Given the description of an element on the screen output the (x, y) to click on. 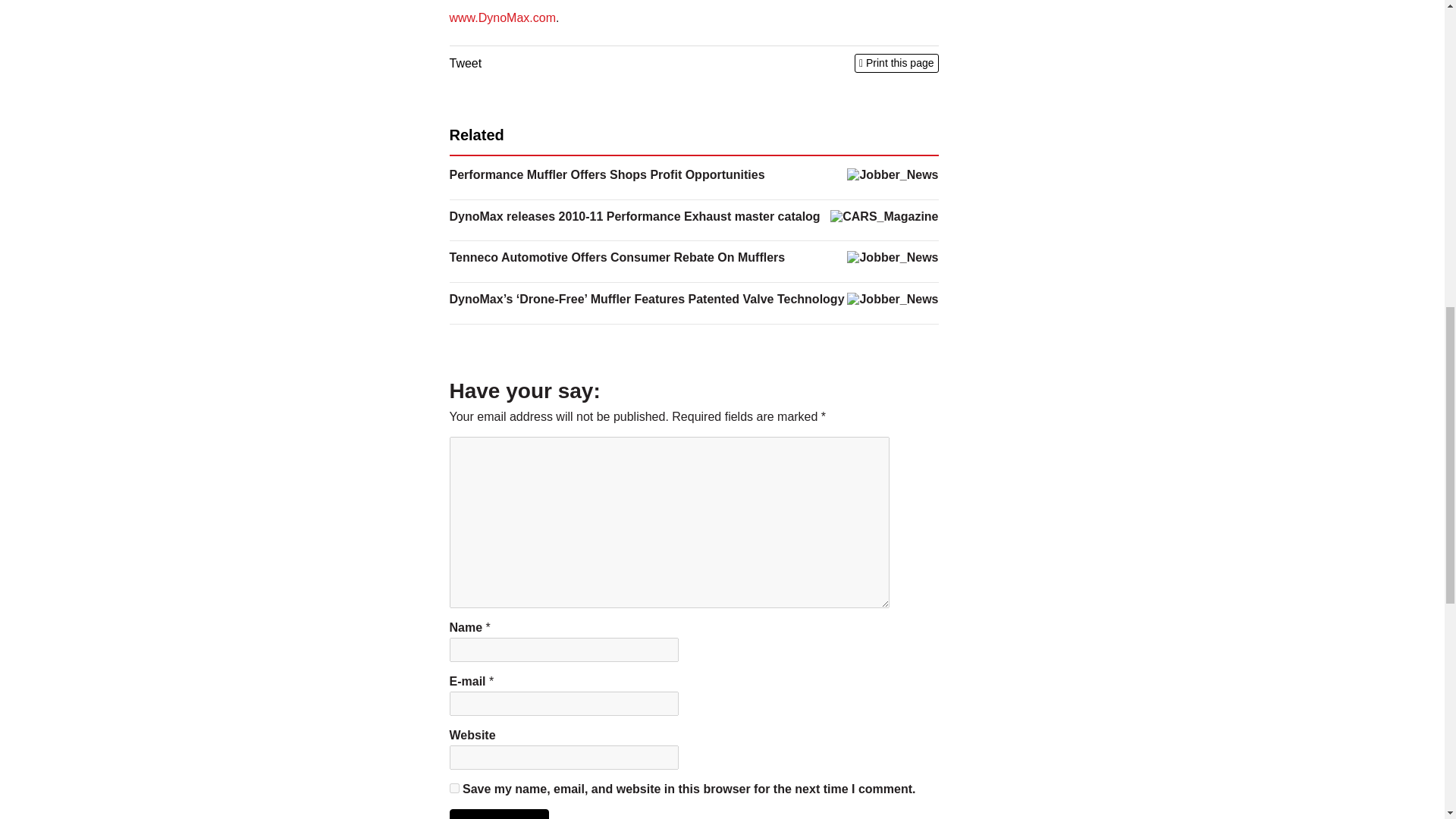
yes (453, 787)
Post Comment (498, 814)
